Given the description of an element on the screen output the (x, y) to click on. 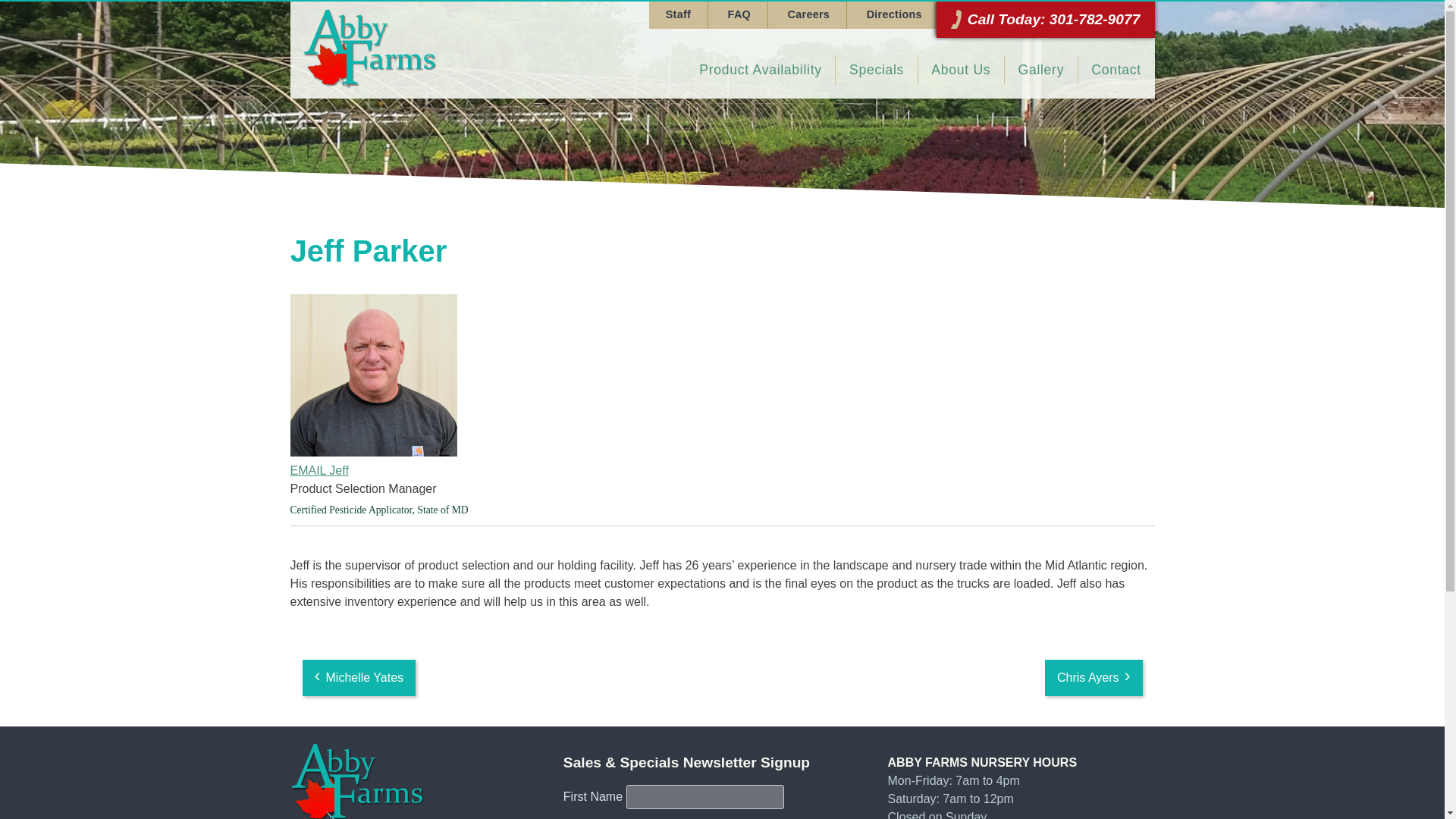
Contact (1116, 70)
Michelle Yates (357, 678)
Careers (808, 14)
Product Availability (760, 70)
Gallery (1040, 70)
Specials (876, 70)
Directions (893, 14)
EMAIL Jeff (721, 470)
FAQ (739, 14)
Staff (678, 14)
